Given the description of an element on the screen output the (x, y) to click on. 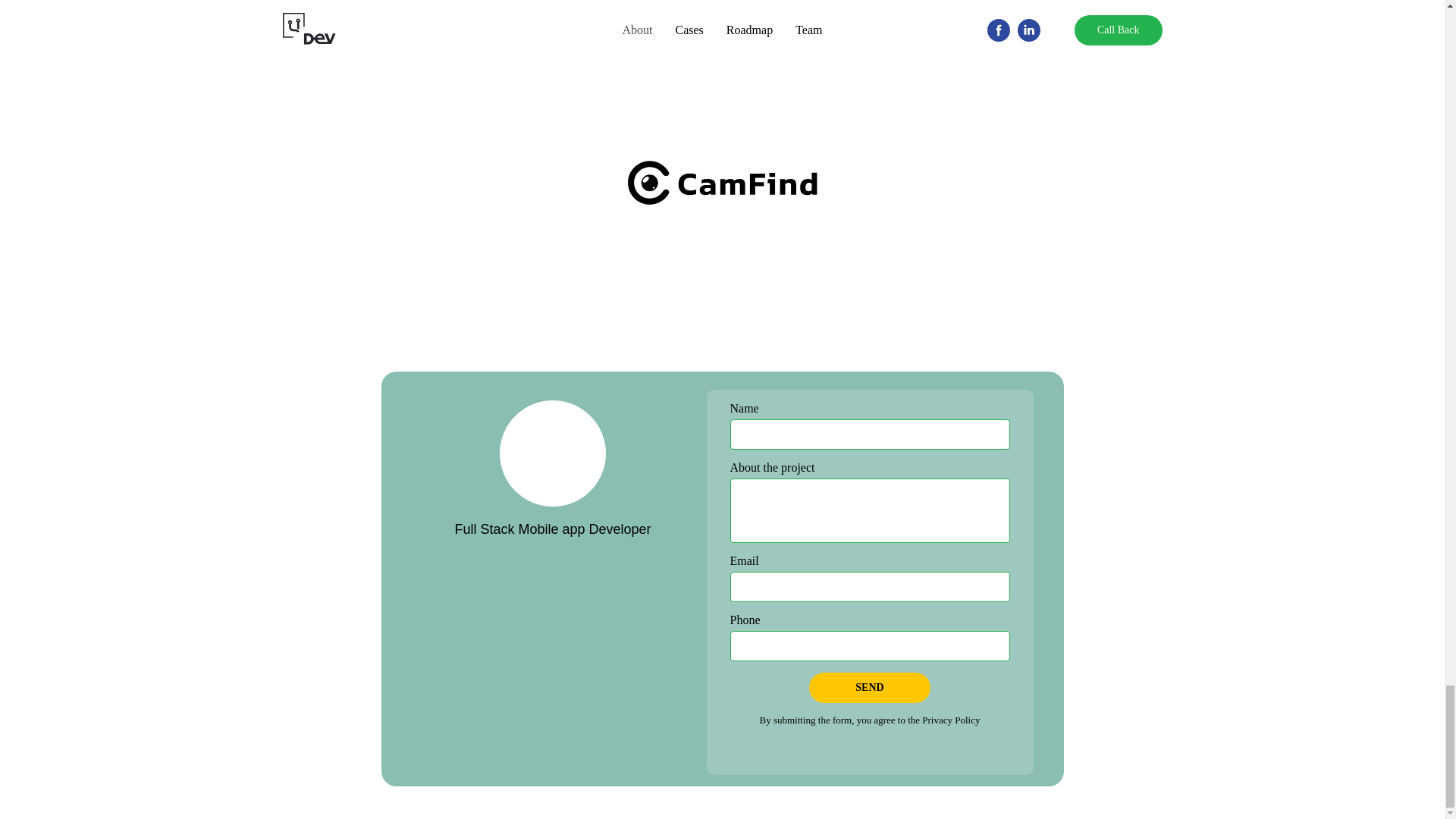
SEND (869, 687)
